Given the description of an element on the screen output the (x, y) to click on. 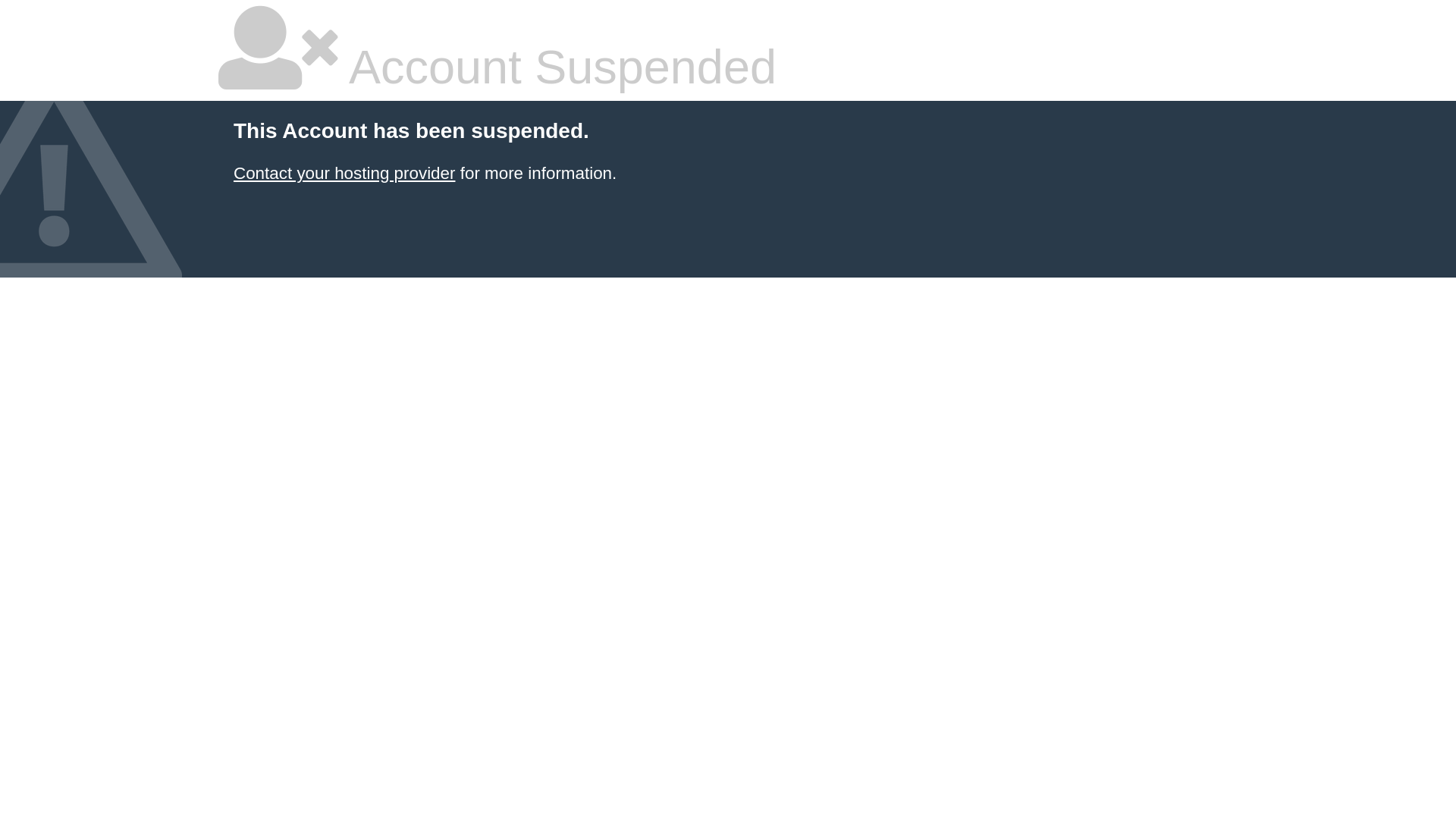
Contact your hosting provider Element type: text (344, 172)
